Given the description of an element on the screen output the (x, y) to click on. 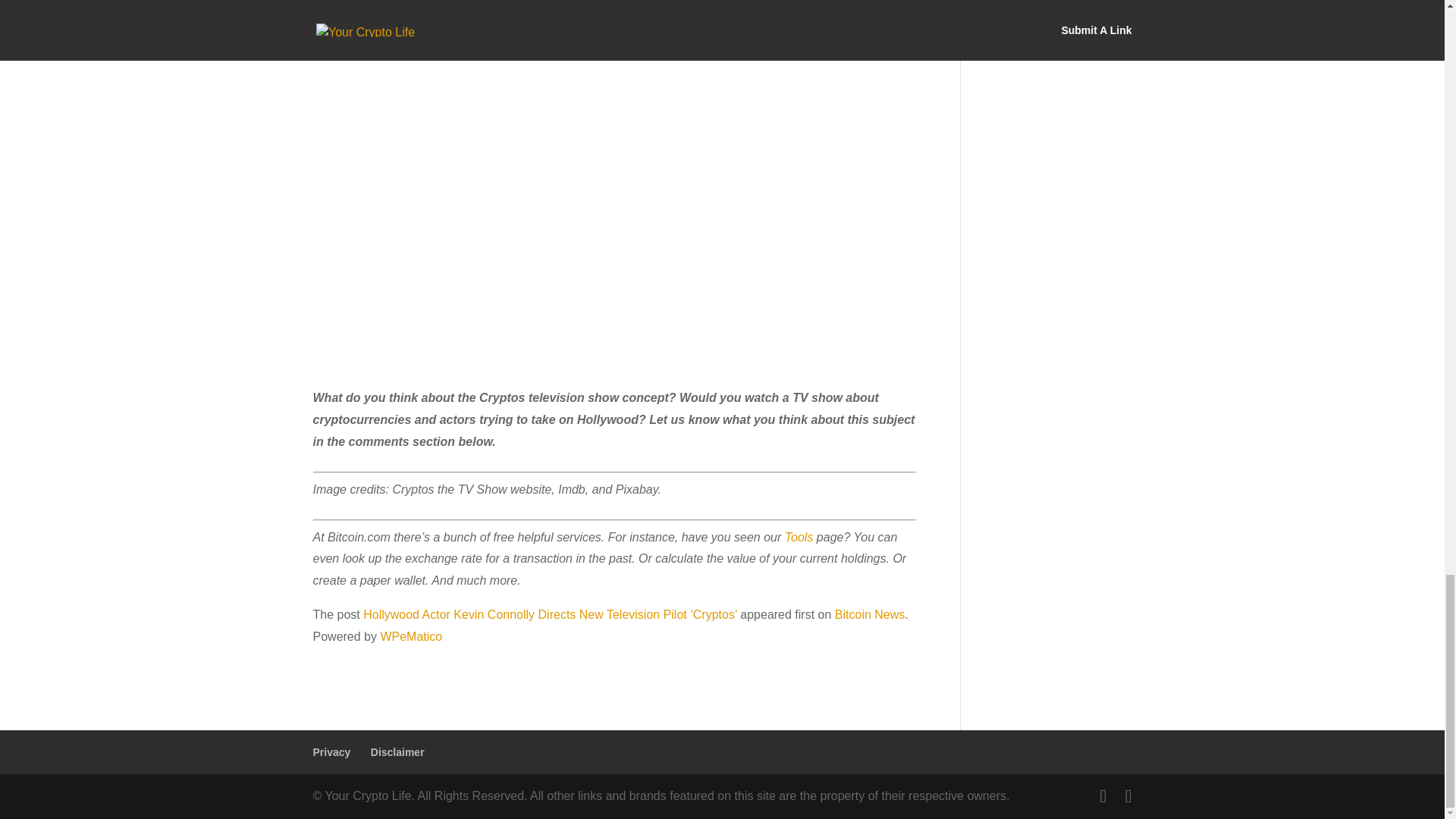
Tools (798, 536)
Privacy (331, 752)
WPeMatico (411, 635)
Disclaimer (398, 752)
Bitcoin News (869, 614)
